Given the description of an element on the screen output the (x, y) to click on. 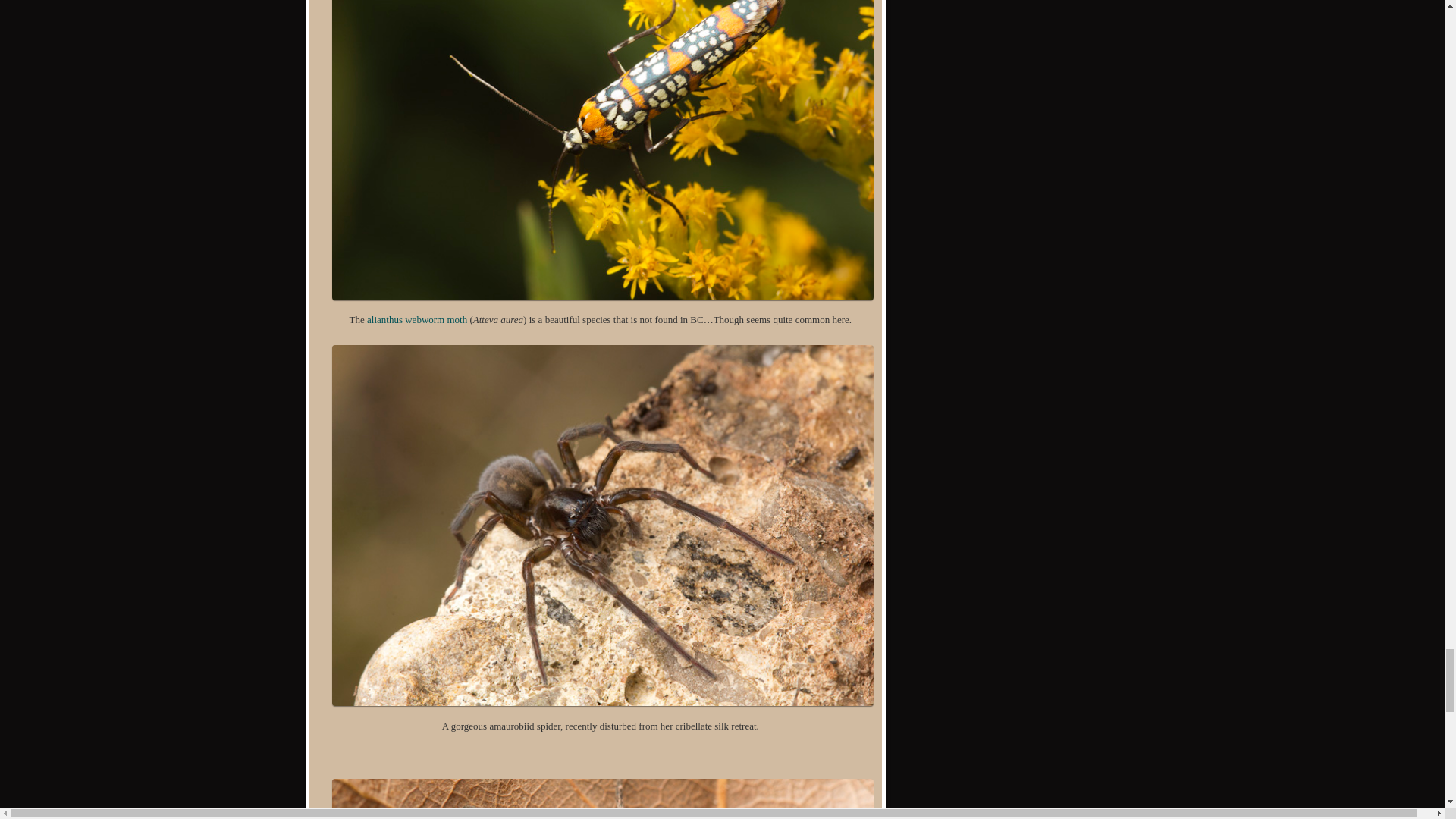
alianthus webworm moth (416, 319)
